Given the description of an element on the screen output the (x, y) to click on. 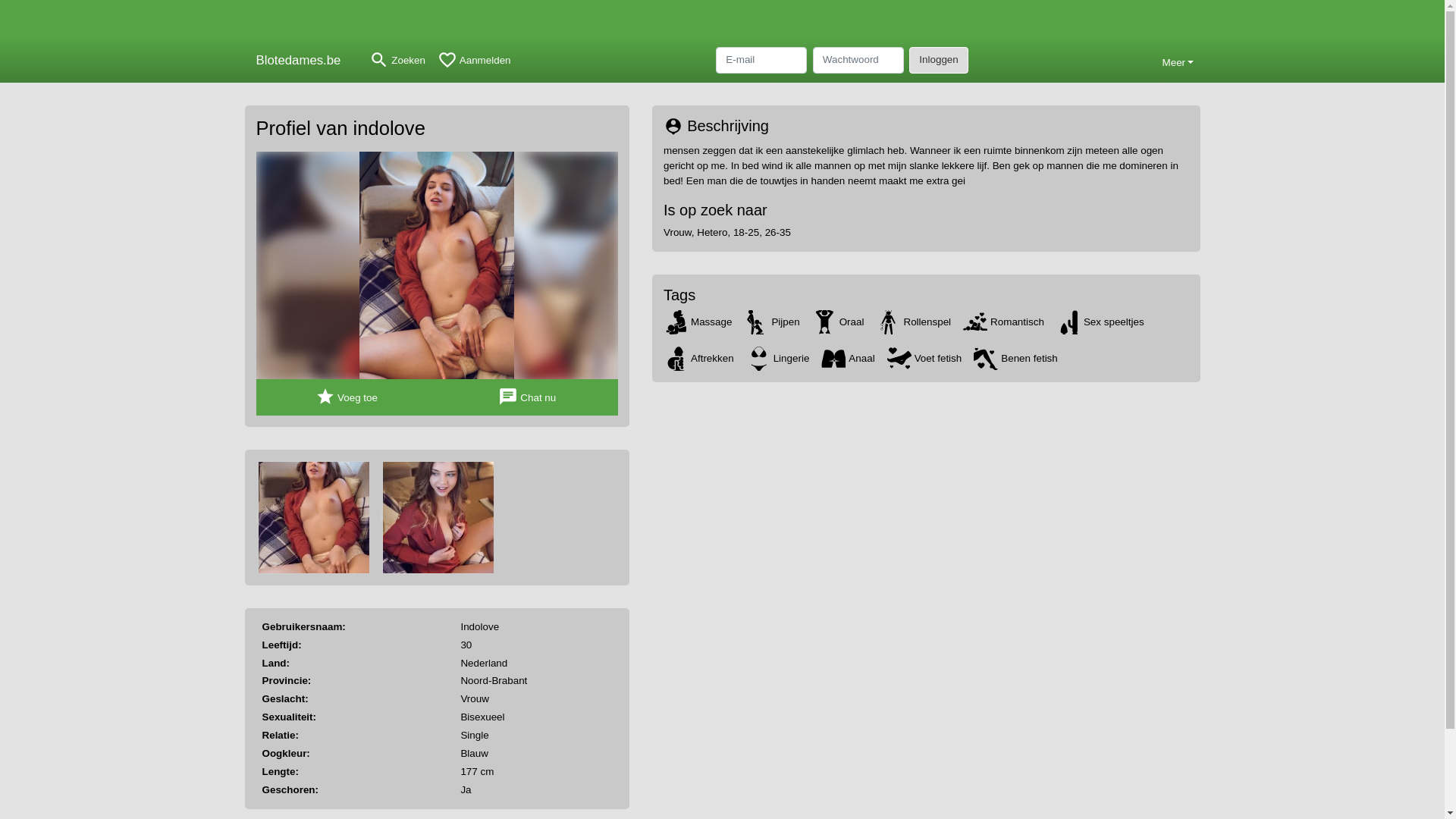
chat Chat nu Element type: text (527, 397)
Inloggen Element type: text (938, 59)
search
Zoeken Element type: text (397, 59)
Blotedames.be Element type: text (303, 59)
Meer Element type: text (1178, 59)
star Voeg toe Element type: text (346, 397)
favorite_border
Aanmelden Element type: text (474, 59)
